Given the description of an element on the screen output the (x, y) to click on. 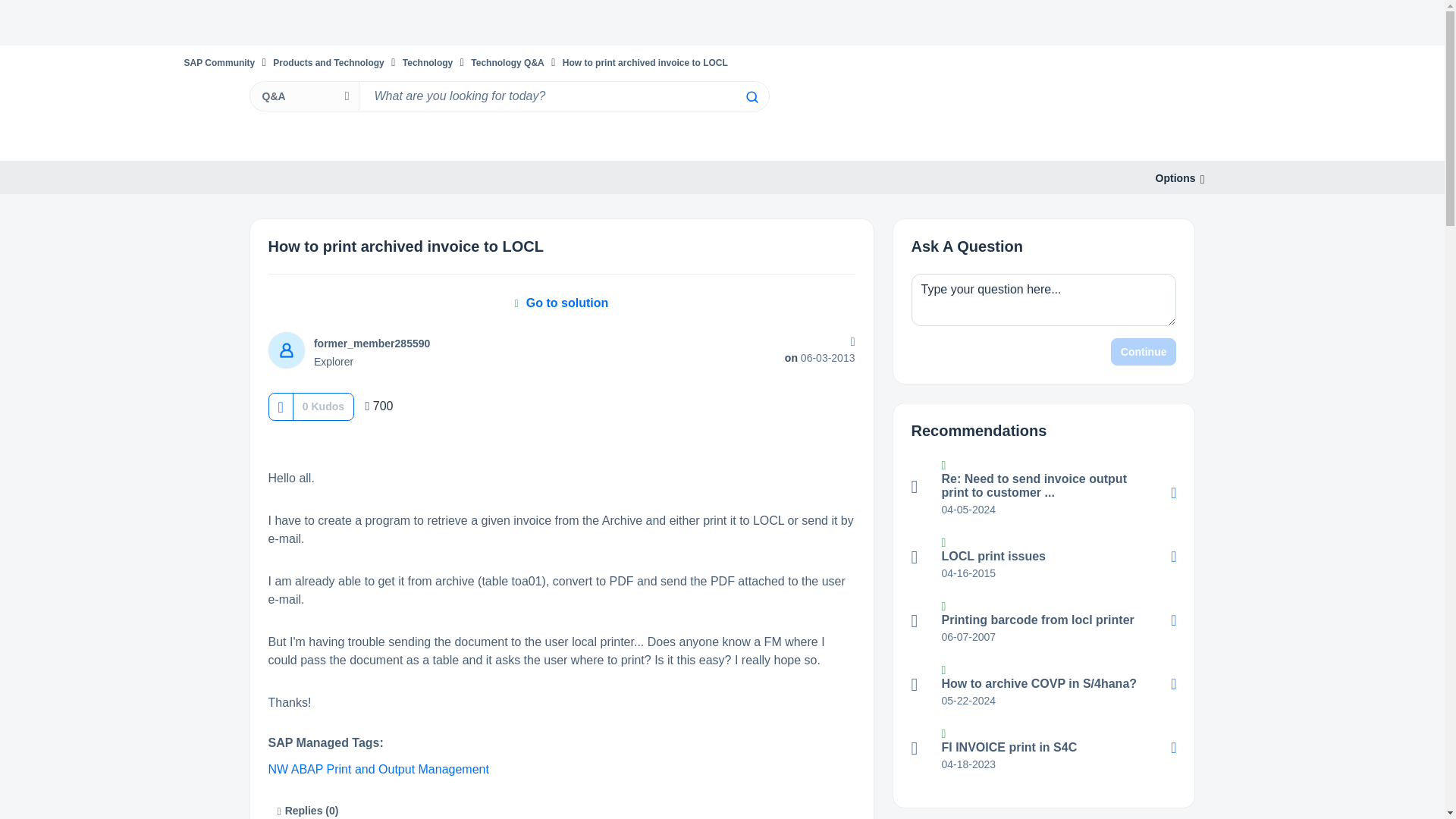
Products and Technology (328, 62)
The total number of kudos this post has received. (323, 406)
Click here to give kudos to this post. (279, 406)
Search (750, 96)
Search (563, 96)
Go to solution (561, 302)
SAP Community (218, 62)
Technology (427, 62)
NW ABAP Print and Output Management (378, 768)
Search (750, 96)
Search (750, 96)
Search Granularity (303, 96)
Show option menu (1176, 178)
Continue (1143, 351)
Options (1176, 178)
